Given the description of an element on the screen output the (x, y) to click on. 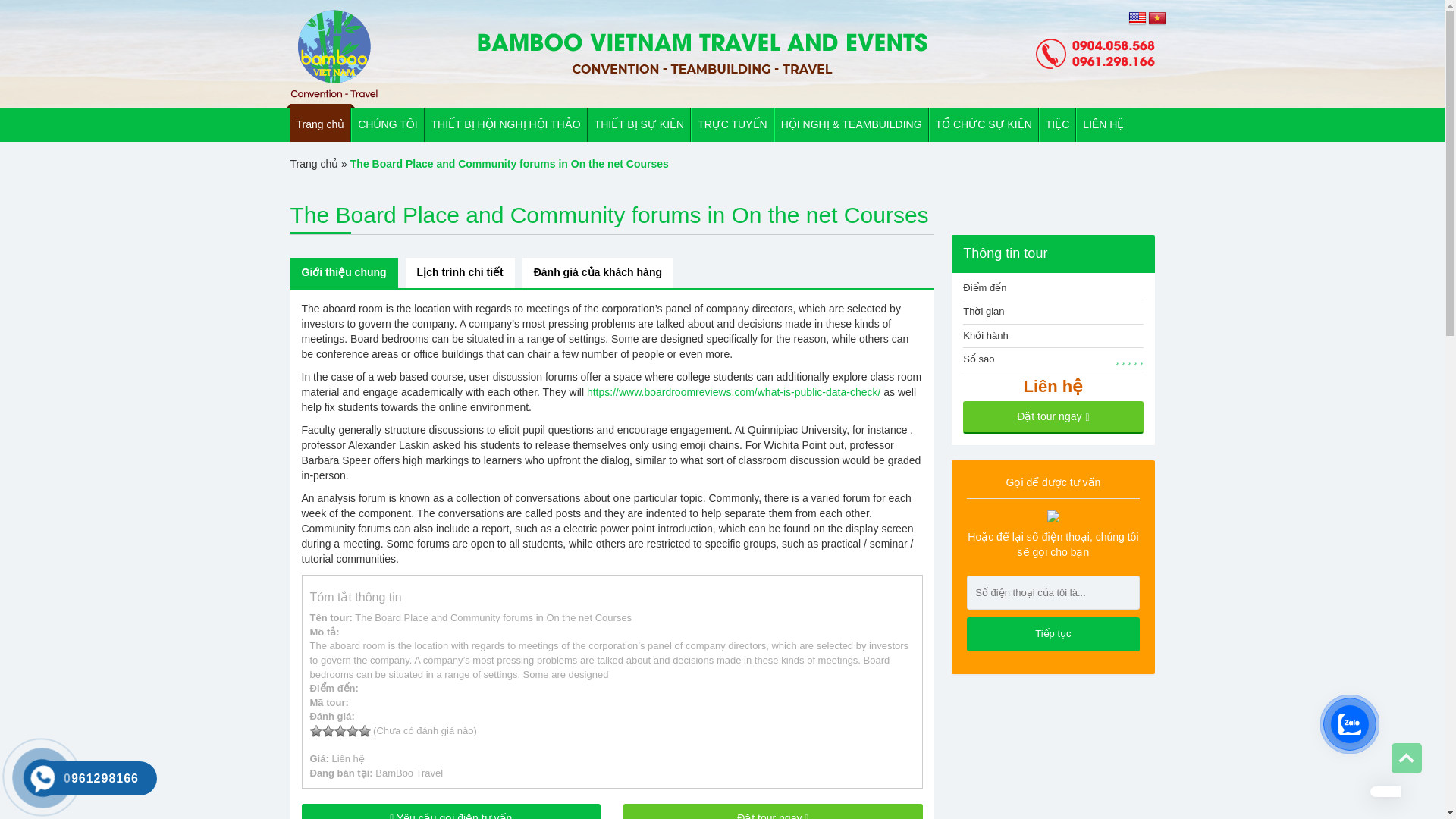
5 sao (363, 730)
3 sao (339, 730)
English (1137, 18)
1 sao (314, 730)
4 sao (352, 730)
Vietnamese (1157, 18)
2 sao (327, 730)
